Given the description of an element on the screen output the (x, y) to click on. 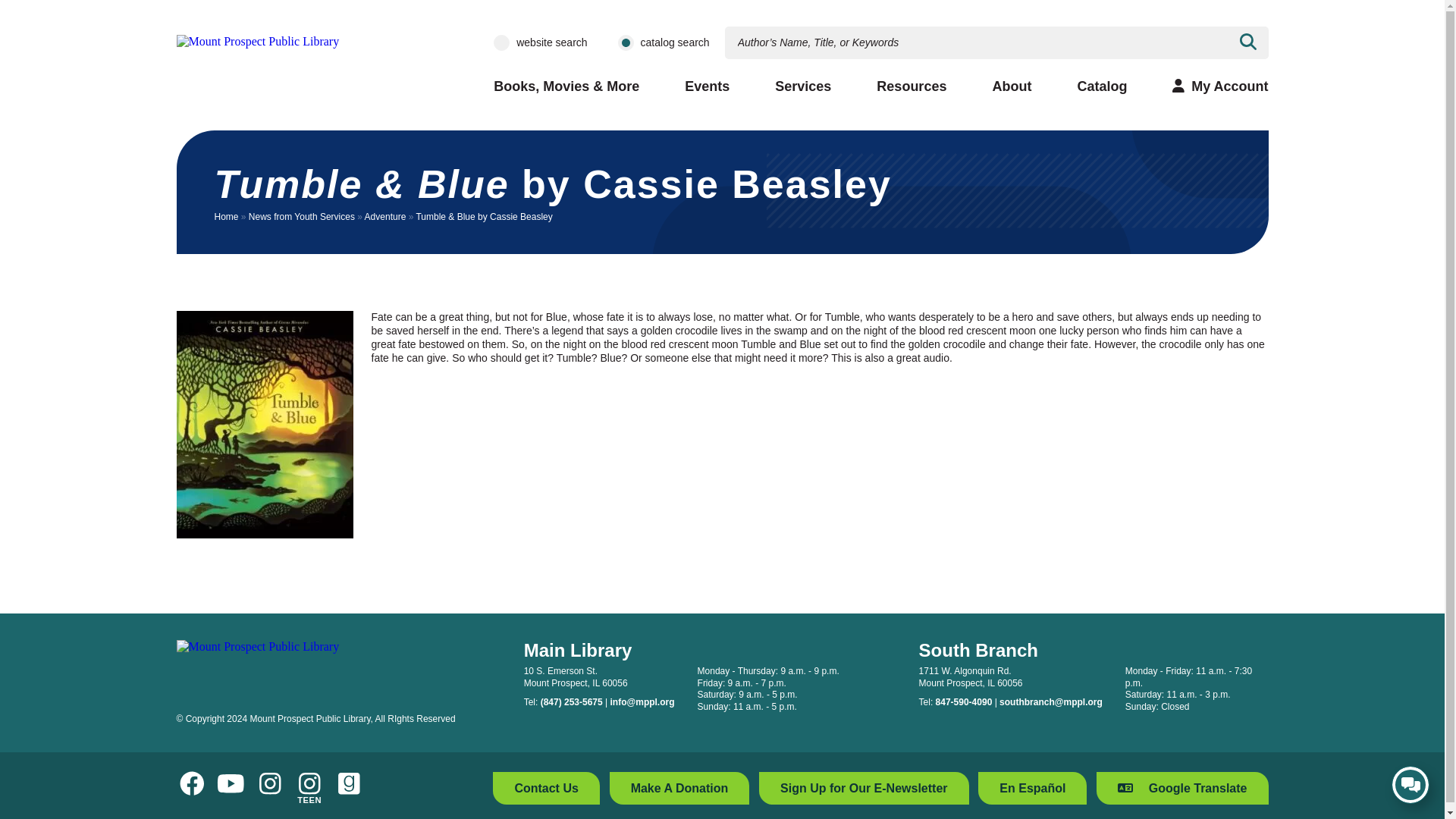
website (501, 42)
website (501, 42)
Events (707, 86)
catalog (625, 42)
Books, Movies, and More: Browse our selection (566, 86)
catalog (625, 42)
Services (802, 86)
